Given the description of an element on the screen output the (x, y) to click on. 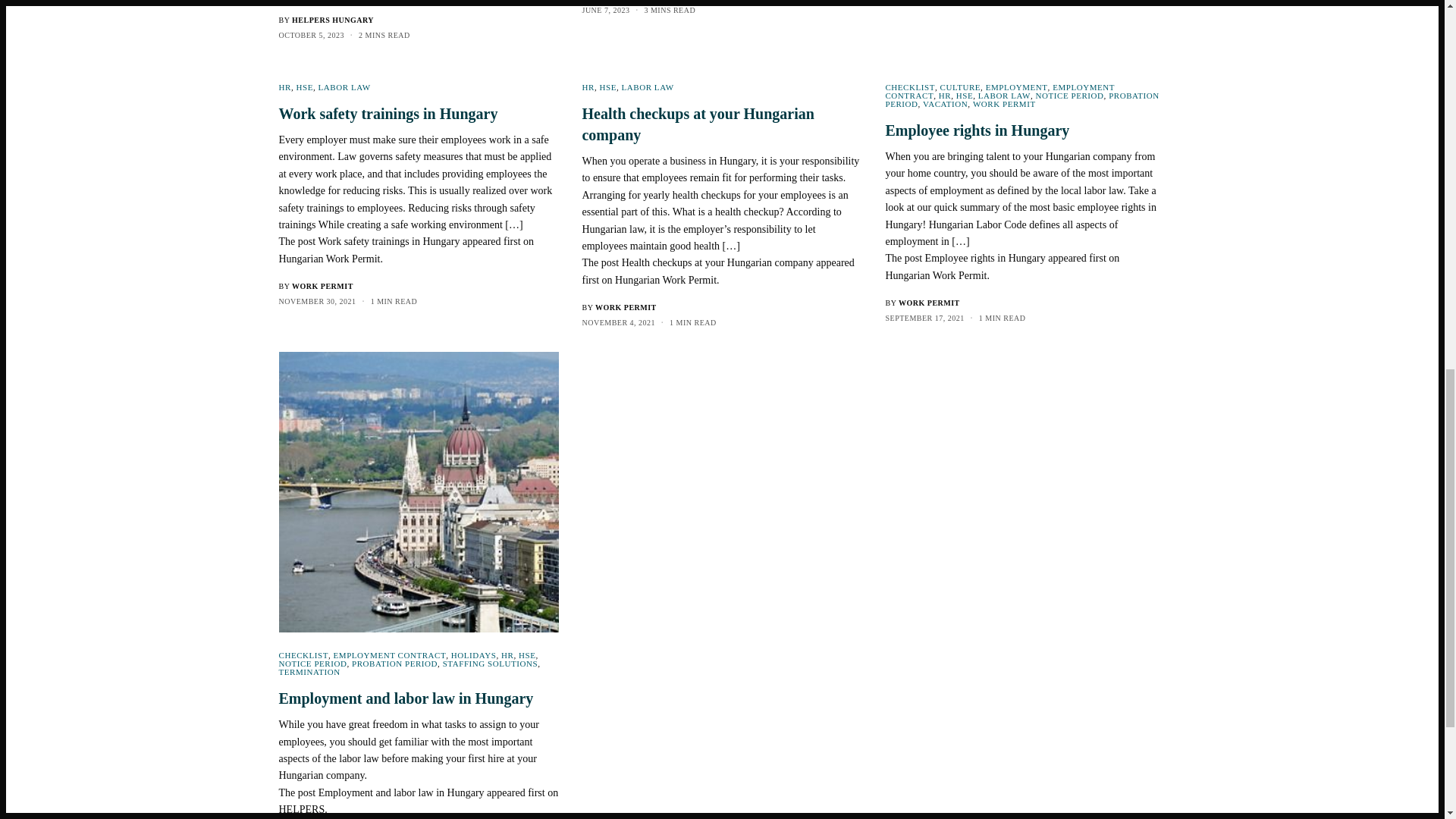
Posts by Work Permit (625, 307)
Health checkups at your Hungarian company (720, 124)
Posts by Work Permit (322, 285)
Employee rights in Hungary (1025, 129)
Posts by Work Permit (928, 302)
Posts by Helpers Hungary (333, 19)
Work safety trainings in Hungary (419, 113)
